Given the description of an element on the screen output the (x, y) to click on. 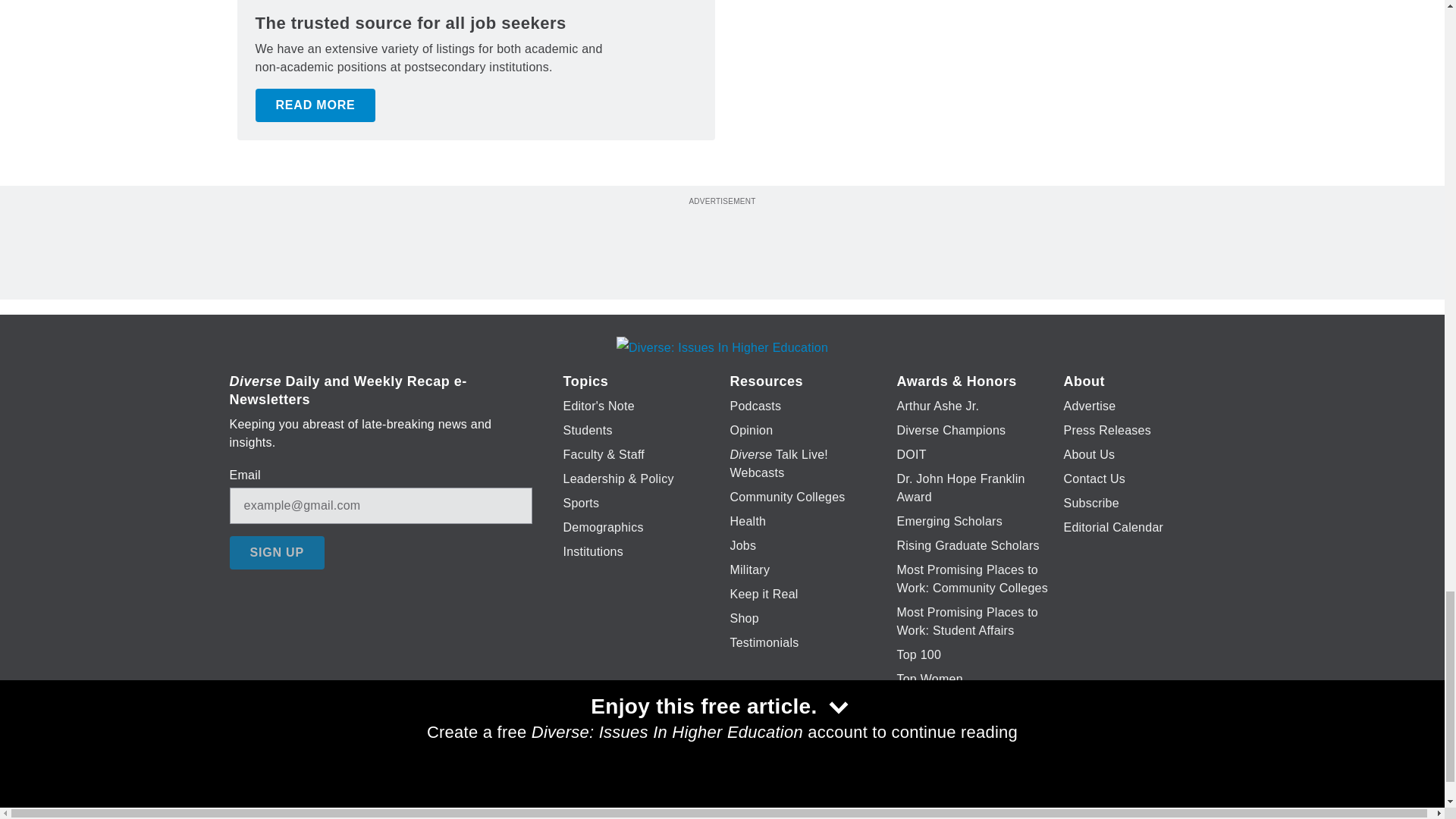
Facebook icon (635, 776)
Twitter X icon (674, 776)
YouTube icon (757, 776)
LinkedIn icon (718, 776)
Instagram icon (796, 776)
